Given the description of an element on the screen output the (x, y) to click on. 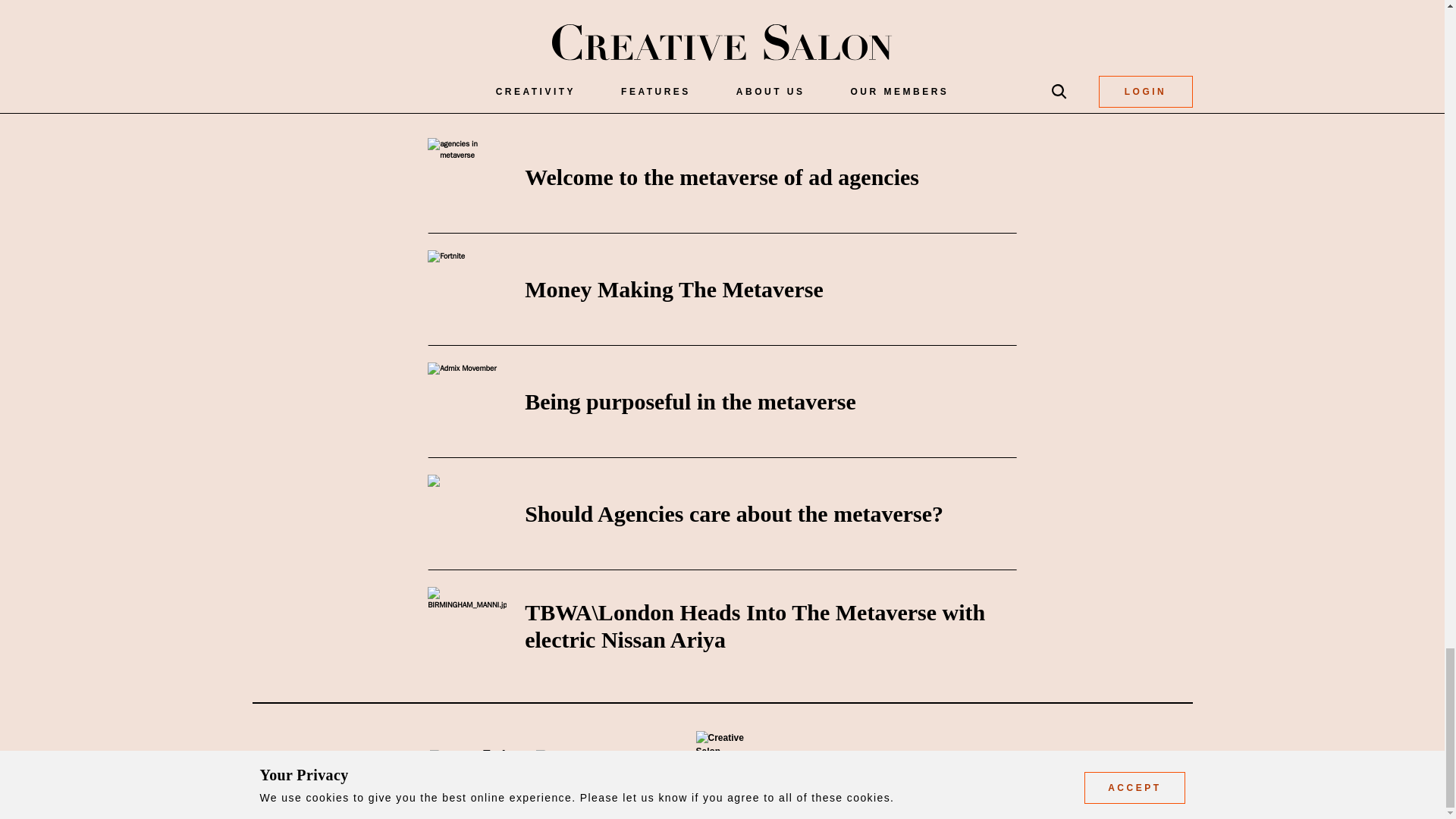
Twitter (494, 1)
PRIVACY (989, 761)
Welcome to the metaverse of ad agencies (721, 176)
LinkedIn (433, 1)
Should Agencies care about the metaverse? (733, 513)
CONTACT (911, 761)
ABOUT (839, 761)
Money Making The Metaverse (674, 289)
Being purposeful in the metaverse (690, 401)
